Given the description of an element on the screen output the (x, y) to click on. 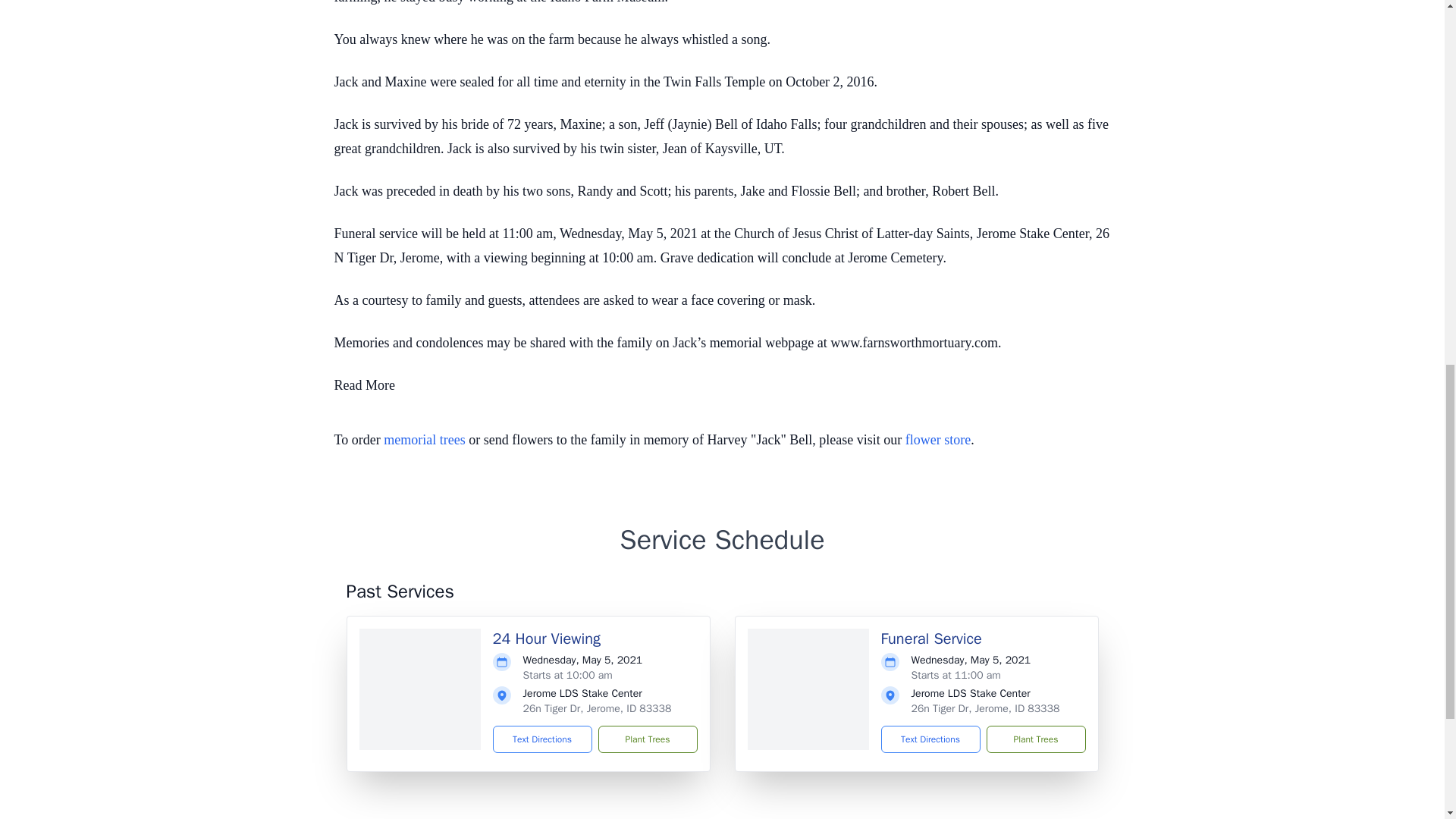
Read More (363, 385)
memorial trees (424, 439)
26n Tiger Dr, Jerome, ID 83338 (985, 707)
26n Tiger Dr, Jerome, ID 83338 (596, 707)
Text Directions (929, 738)
Text Directions (542, 738)
Plant Trees (646, 738)
flower store (938, 439)
Plant Trees (1034, 738)
